Given the description of an element on the screen output the (x, y) to click on. 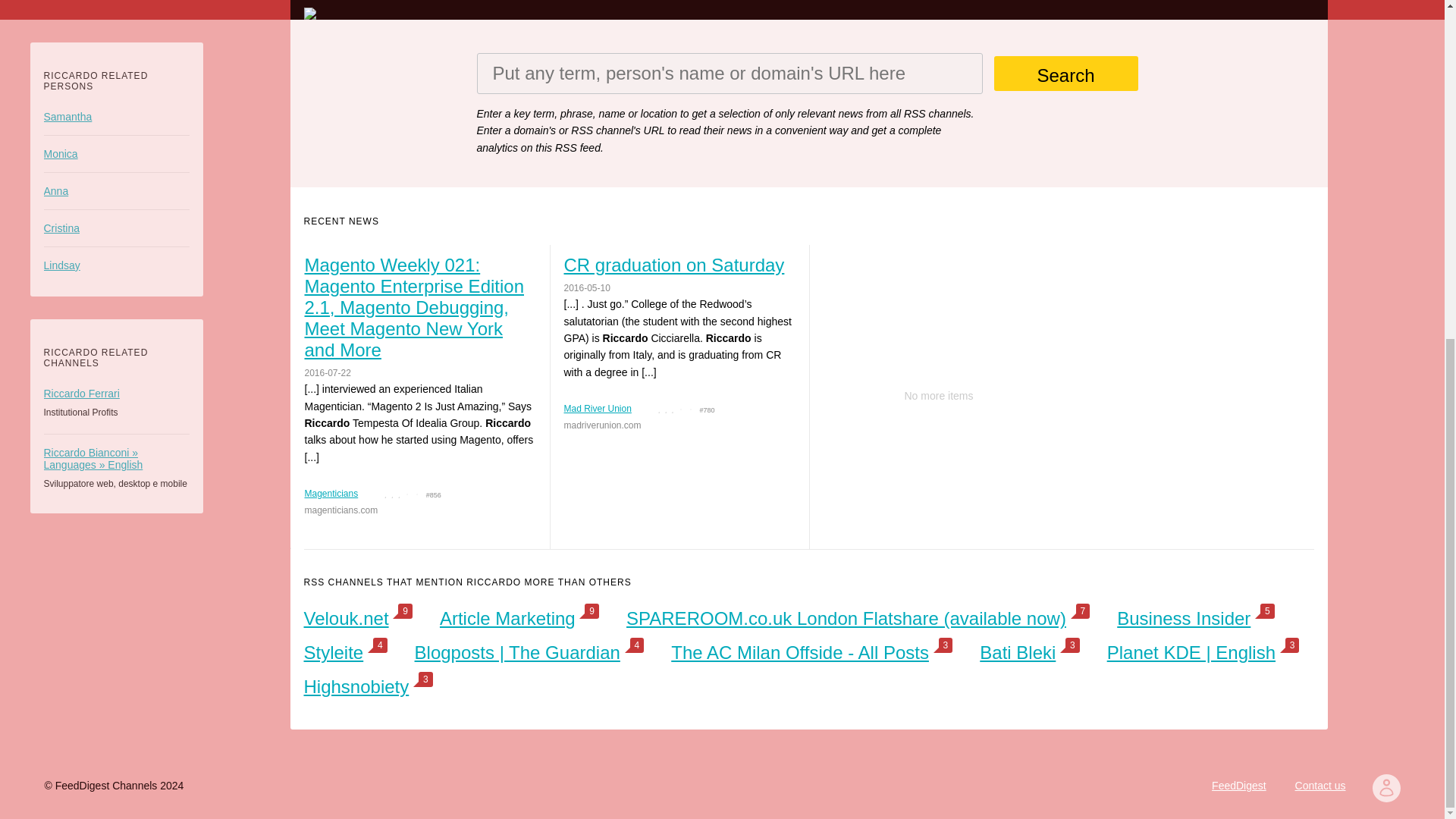
Search (1064, 73)
Styleite (332, 652)
Velouk.net (345, 618)
Business Insider (1183, 618)
Magenticians (331, 493)
Mad River Union (597, 408)
Bati Bleki (1017, 652)
CR graduation on Saturday (678, 265)
Article Marketing (507, 618)
